Given the description of an element on the screen output the (x, y) to click on. 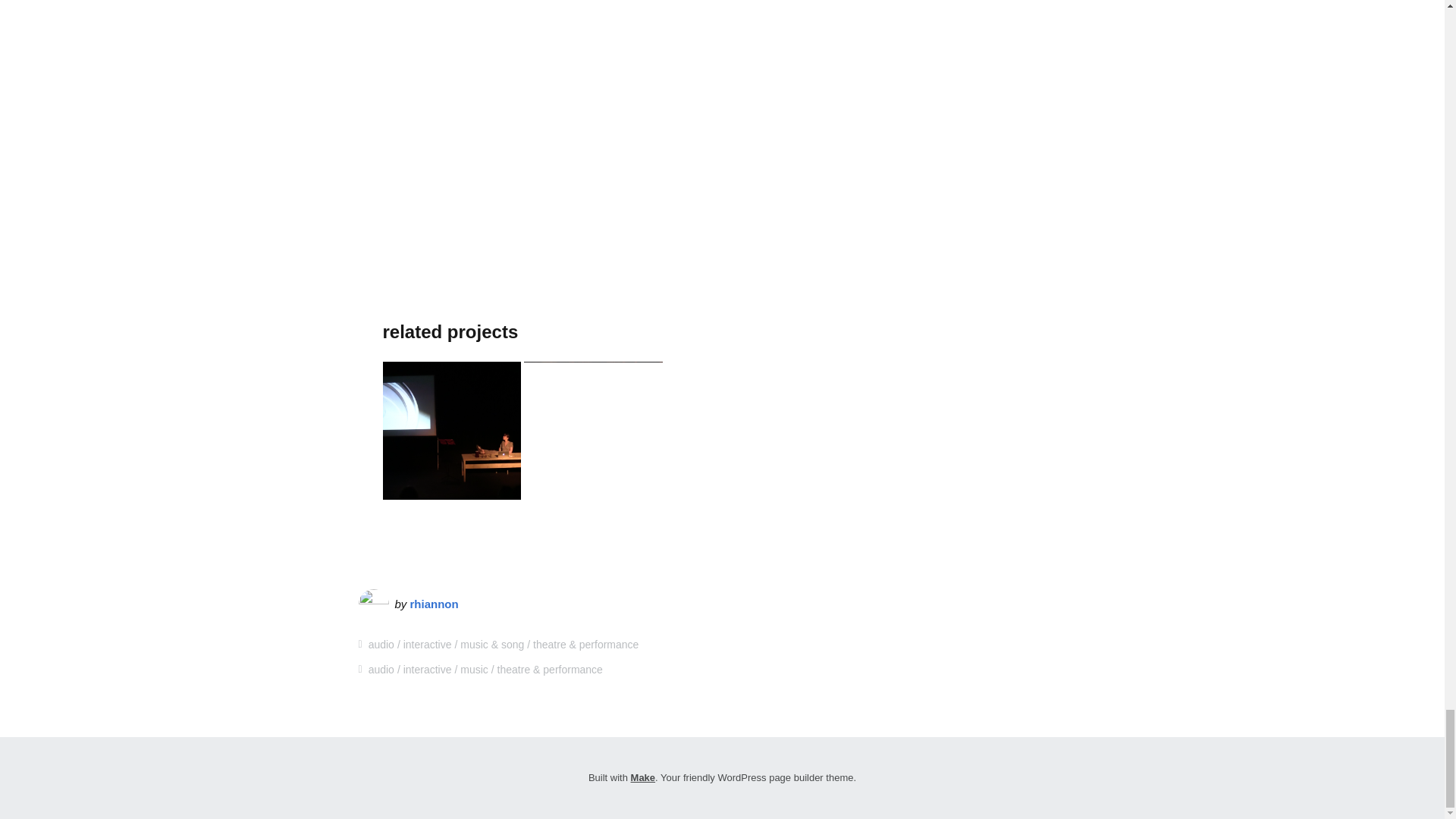
audio (381, 669)
music (473, 669)
audio (381, 644)
interactive (427, 669)
Make (643, 777)
rhiannon (434, 603)
interactive (427, 644)
